Given the description of an element on the screen output the (x, y) to click on. 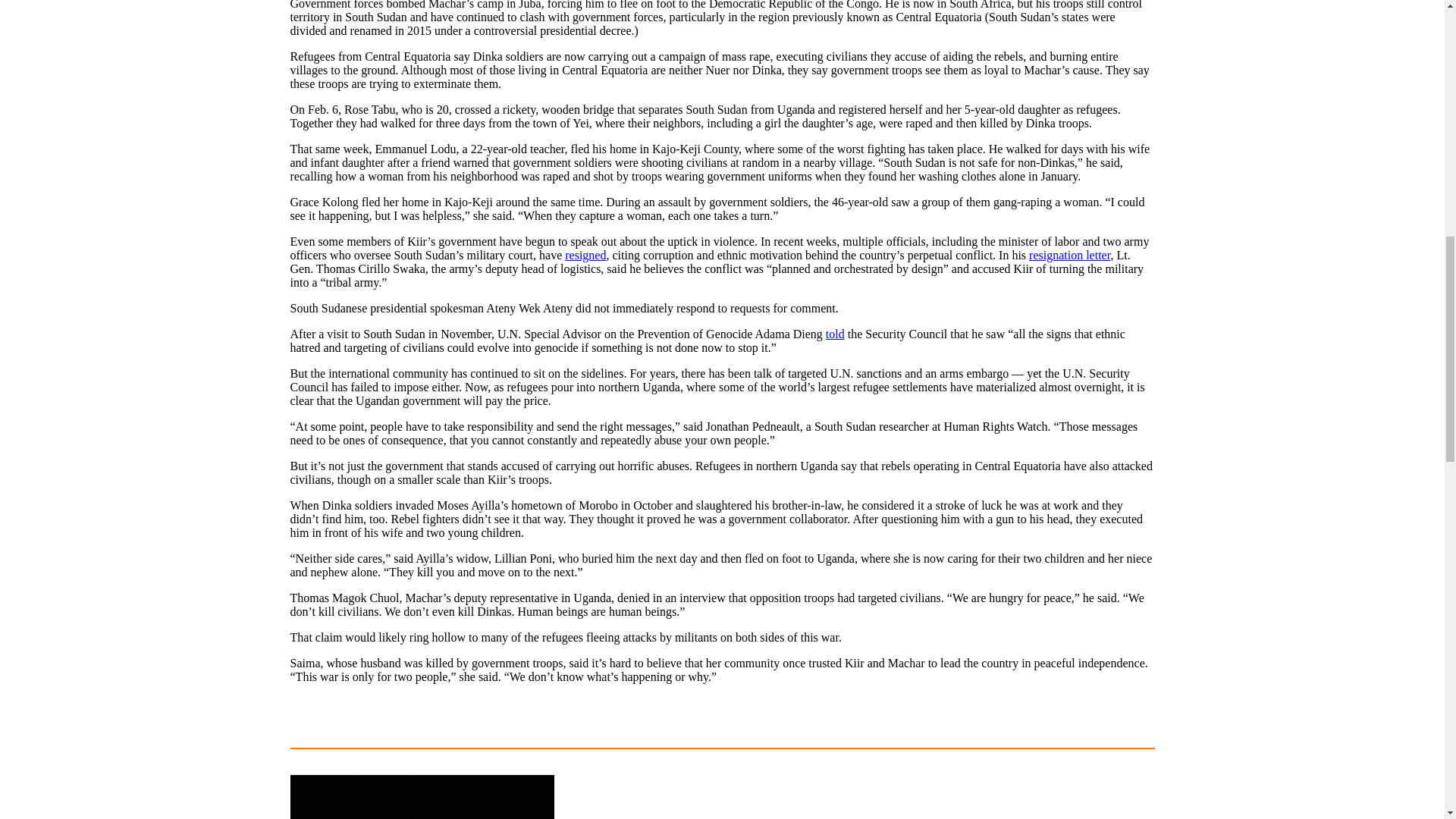
told (834, 333)
resigned (584, 254)
resignation letter (1069, 254)
